Given the description of an element on the screen output the (x, y) to click on. 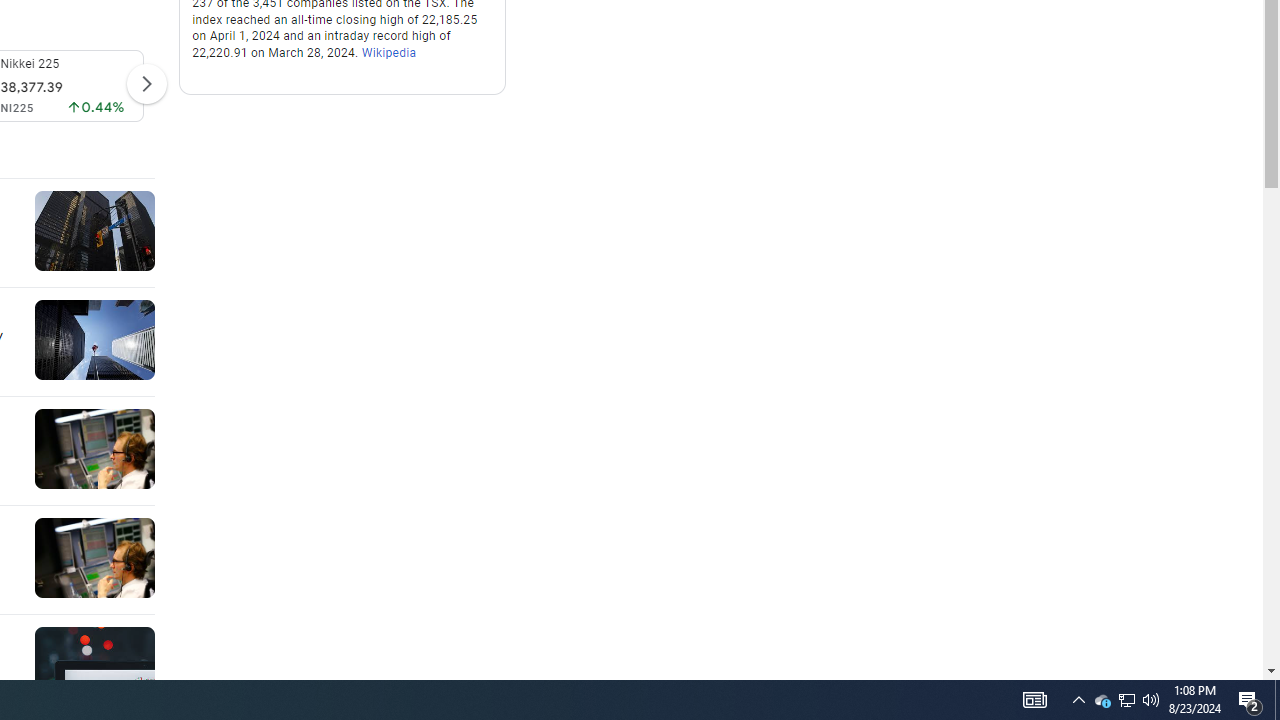
Wikipedia (388, 53)
